Given the description of an element on the screen output the (x, y) to click on. 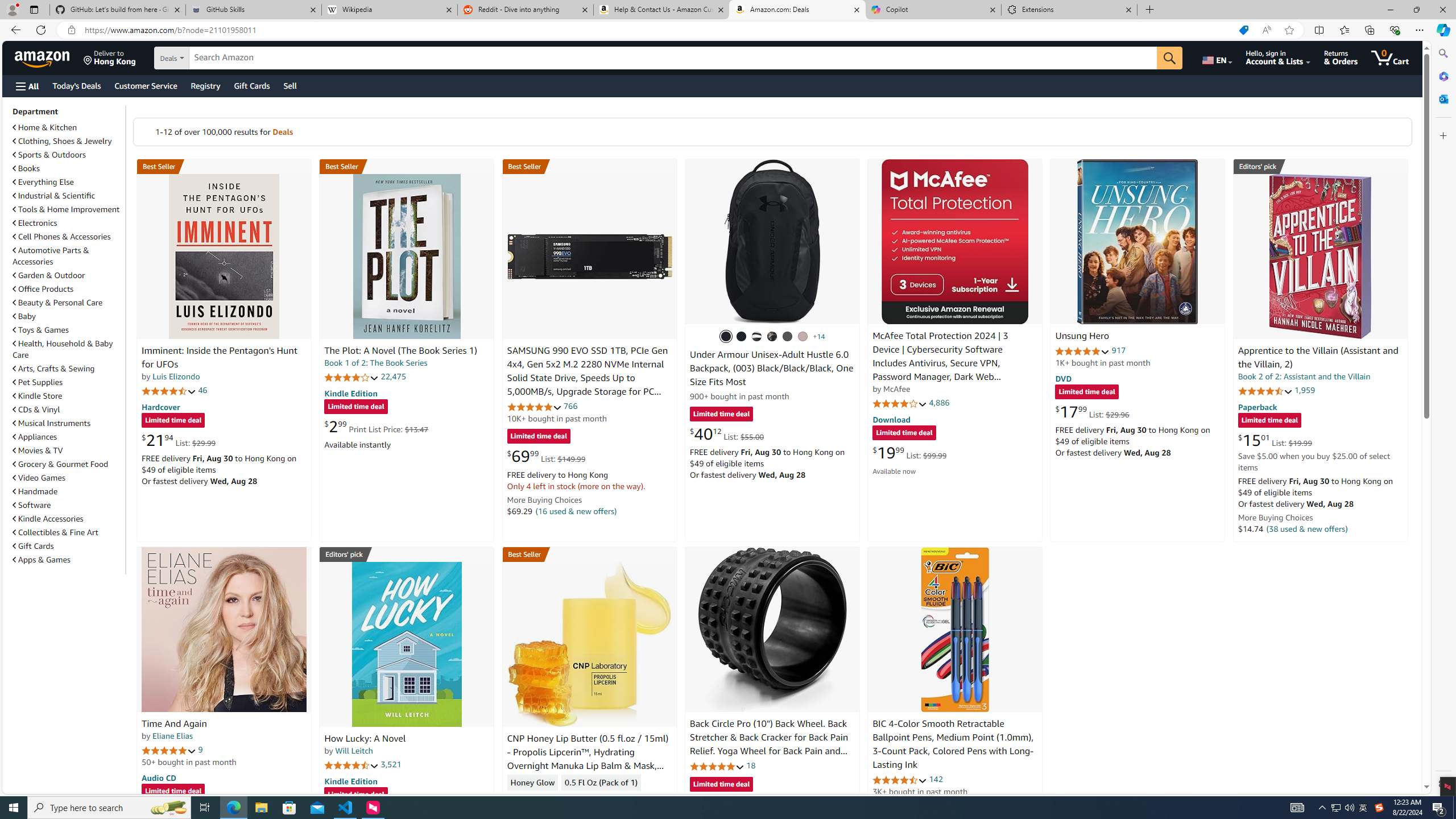
Industrial & Scientific (67, 195)
Handmade (35, 491)
Amazon.com: Deals (797, 9)
Book 2 of 2: Assistant and the Villain (1303, 376)
Collectibles & Fine Art (56, 532)
Office Products (43, 289)
The Plot: A Novel (The Book Series 1) (406, 256)
46 (203, 390)
Paperback (1256, 406)
(004) Black / Black / Metallic Gold (772, 336)
Appliances (34, 436)
Grocery & Gourmet Food (67, 464)
Cell Phones & Accessories (61, 236)
